Given the description of an element on the screen output the (x, y) to click on. 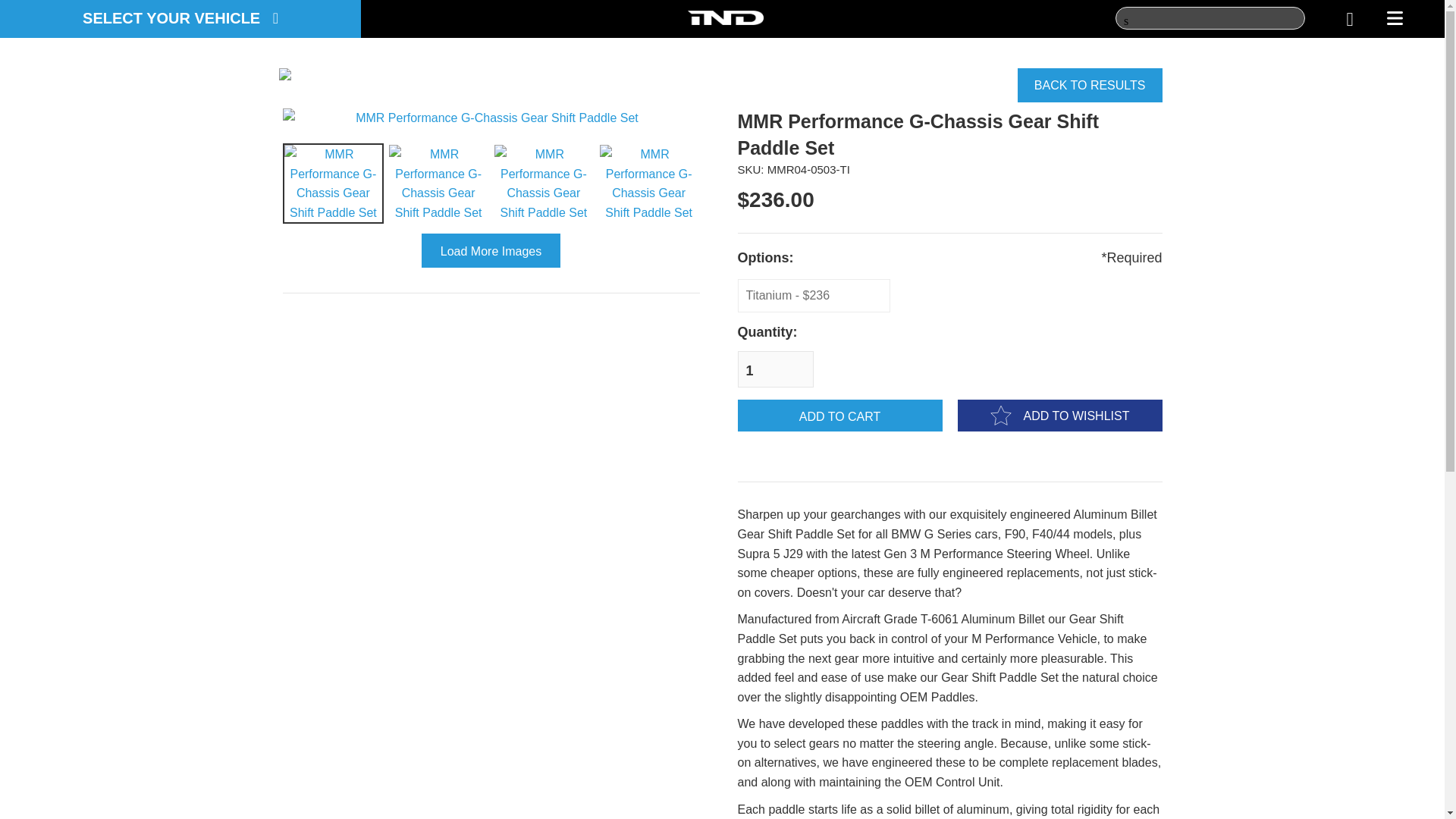
1 (774, 369)
